Given the description of an element on the screen output the (x, y) to click on. 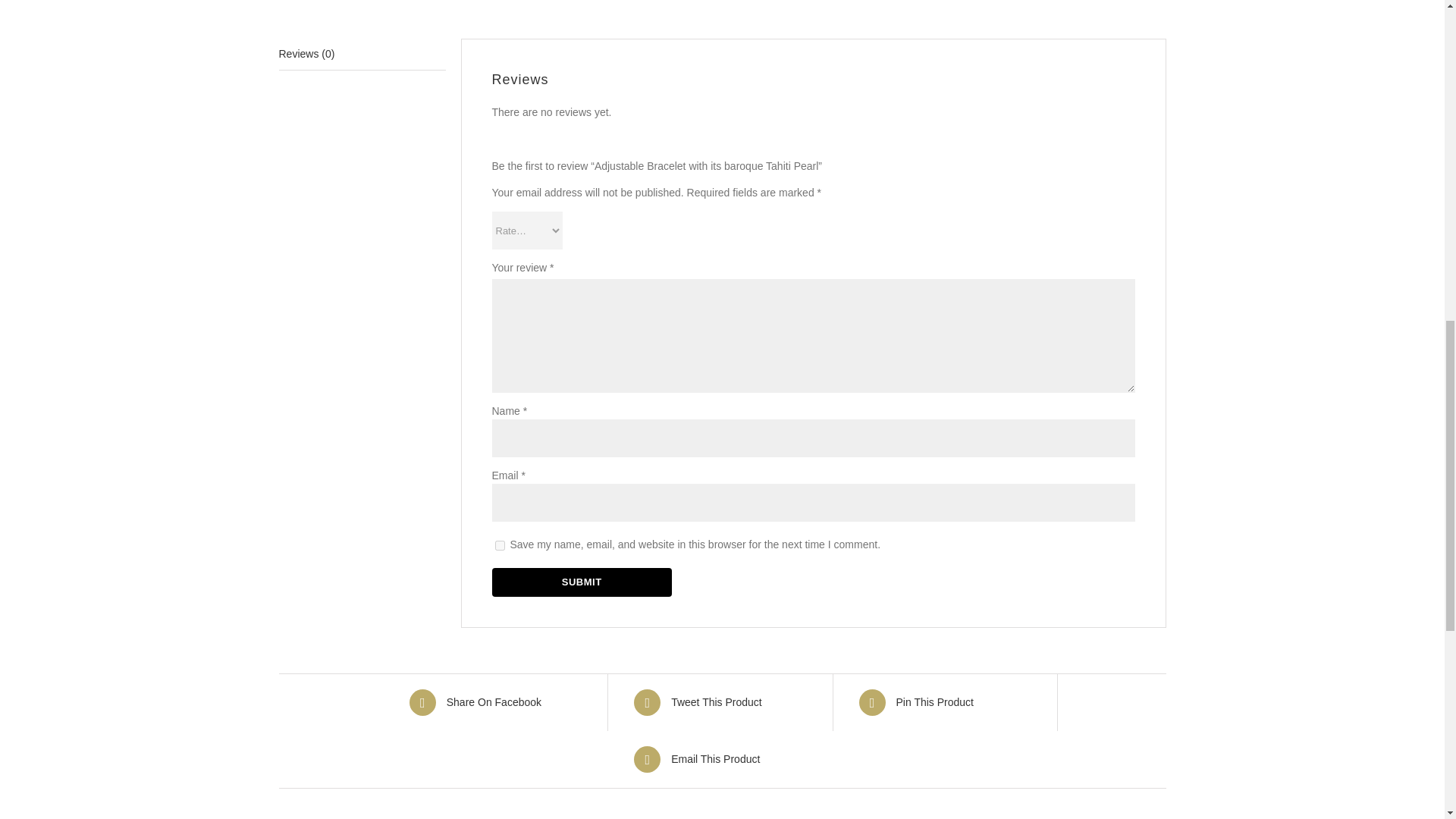
Submit (581, 582)
Submit (581, 582)
yes (499, 545)
